Given the description of an element on the screen output the (x, y) to click on. 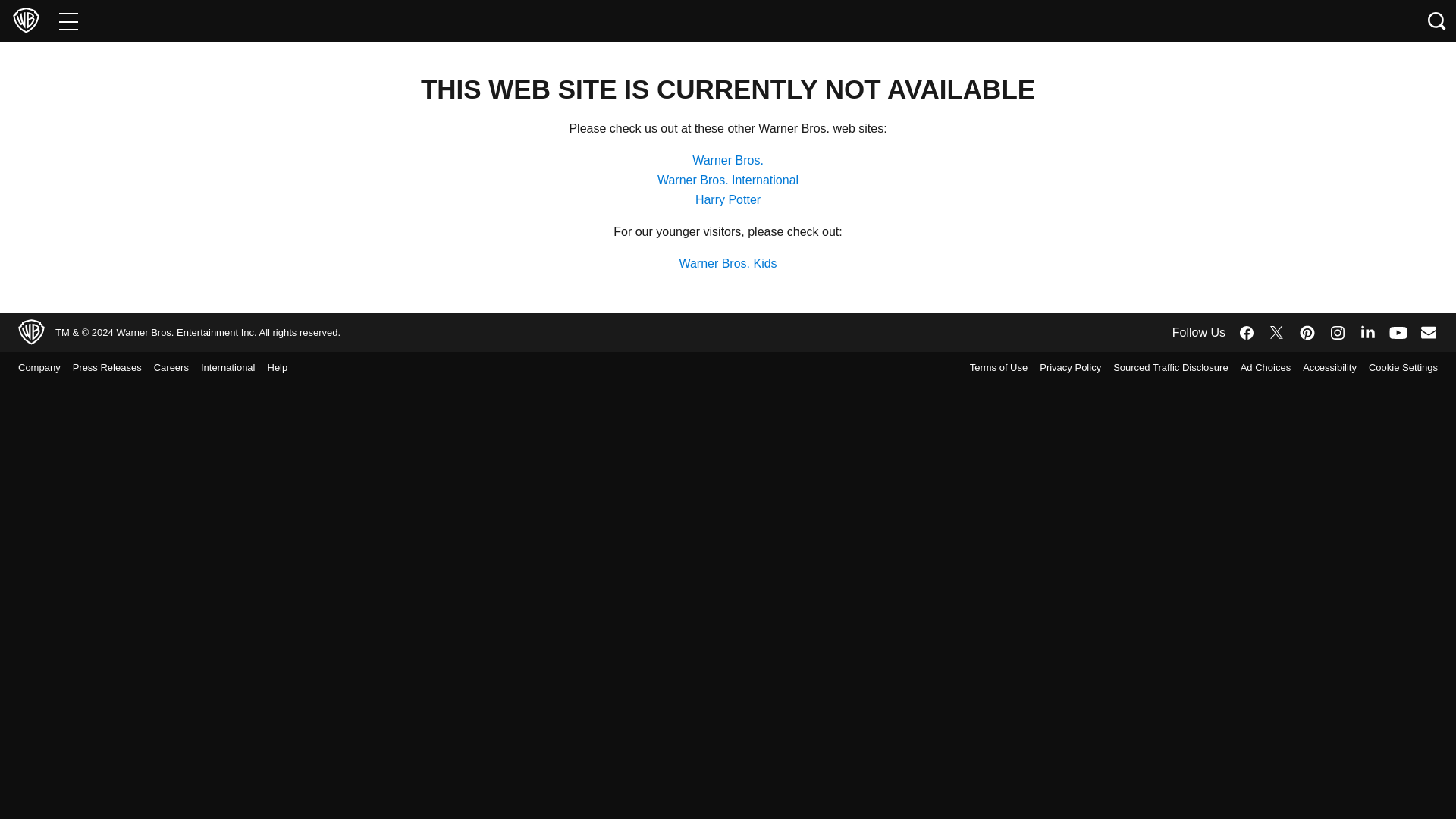
Accessibility (1323, 367)
Careers (177, 367)
Harry Potter (727, 199)
Warner Bros. (727, 160)
Warner Bros. Kids (727, 263)
Privacy Policy (1063, 367)
Company (44, 367)
Help (282, 367)
Terms of Use (998, 367)
Sourced Traffic Disclosure (1164, 367)
